Given the description of an element on the screen output the (x, y) to click on. 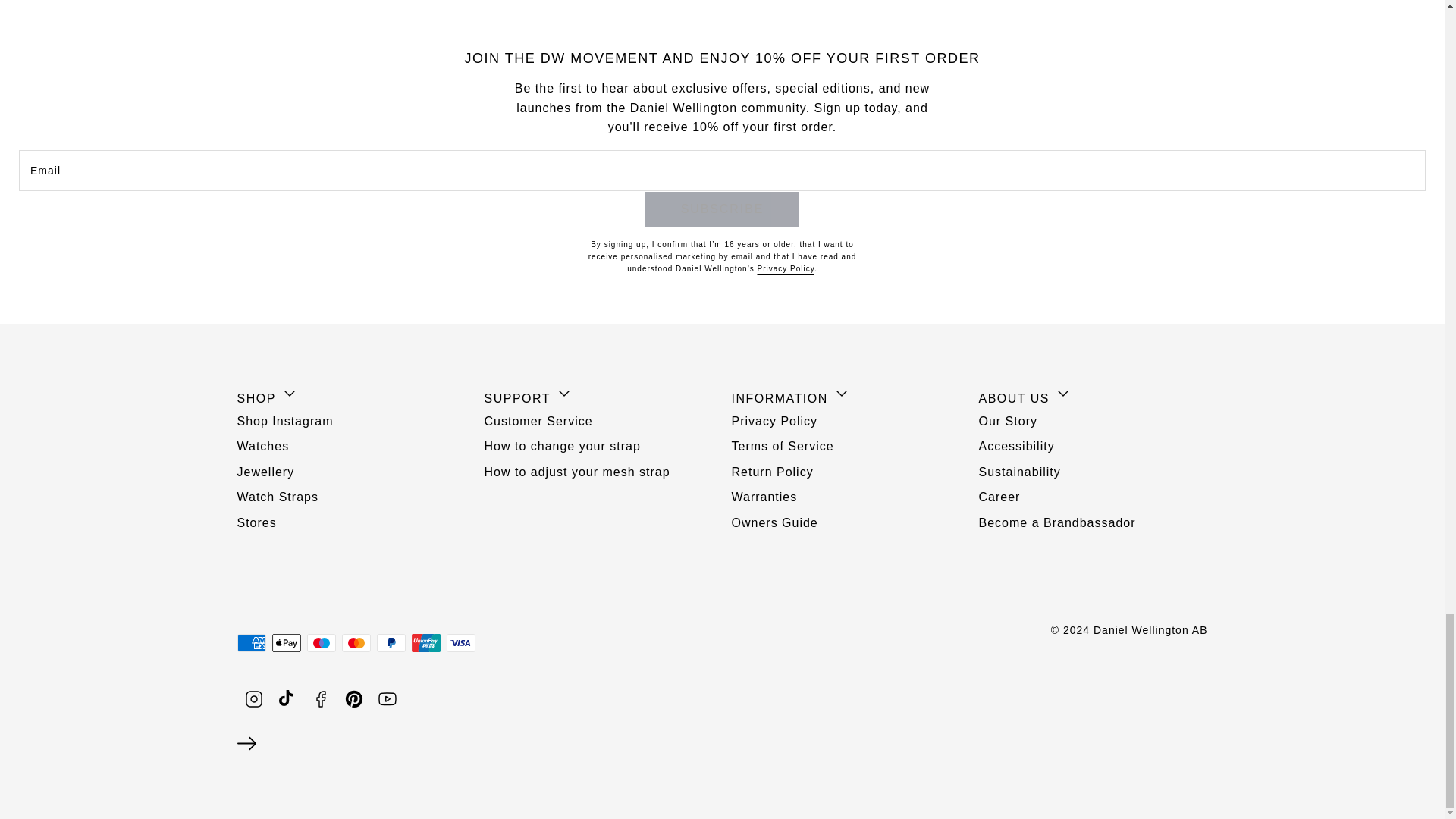
Mastercard (354, 642)
PayPal (389, 642)
Maestro (319, 642)
American Express (249, 642)
Apple Pay (284, 642)
